Given the description of an element on the screen output the (x, y) to click on. 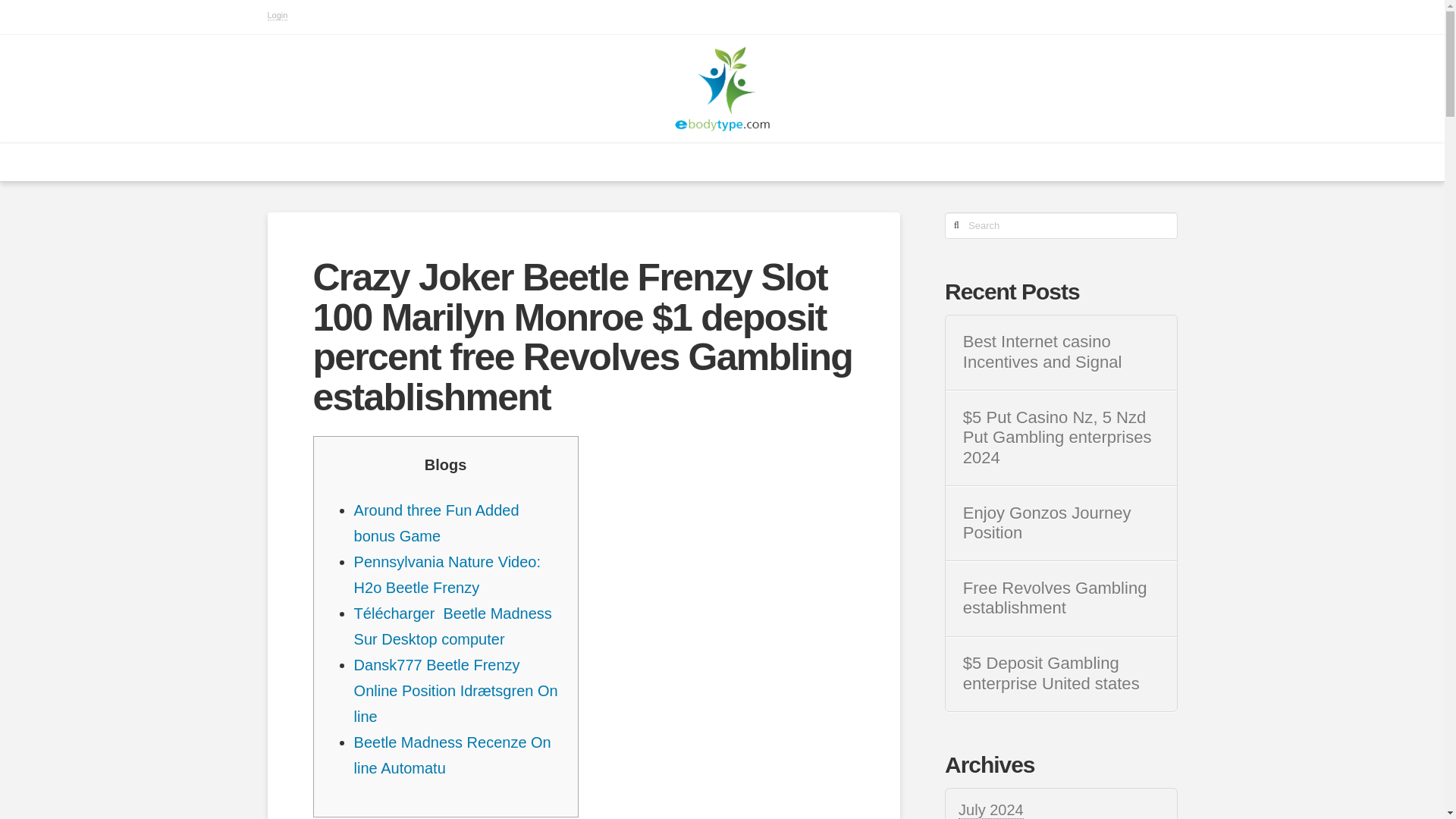
Beetle Madness Recenze On line Automatu (452, 754)
ABOUT EBODYTYPE (608, 161)
Login (276, 15)
TEST DEFINITIONS (917, 161)
SHOP (1024, 161)
Pennsylvania Nature Video: H2o Beetle Frenzy (446, 574)
Free Revolves Gambling establishment (1060, 598)
EBODYTYPE TESTS (461, 161)
July 2024 (990, 810)
Enjoy Gonzos Journey Position (1060, 523)
Best Internet casino Incentives and Signal (1060, 352)
ALL ACCESS PRICING (762, 161)
Around three Fun Added bonus Game (436, 523)
